Given the description of an element on the screen output the (x, y) to click on. 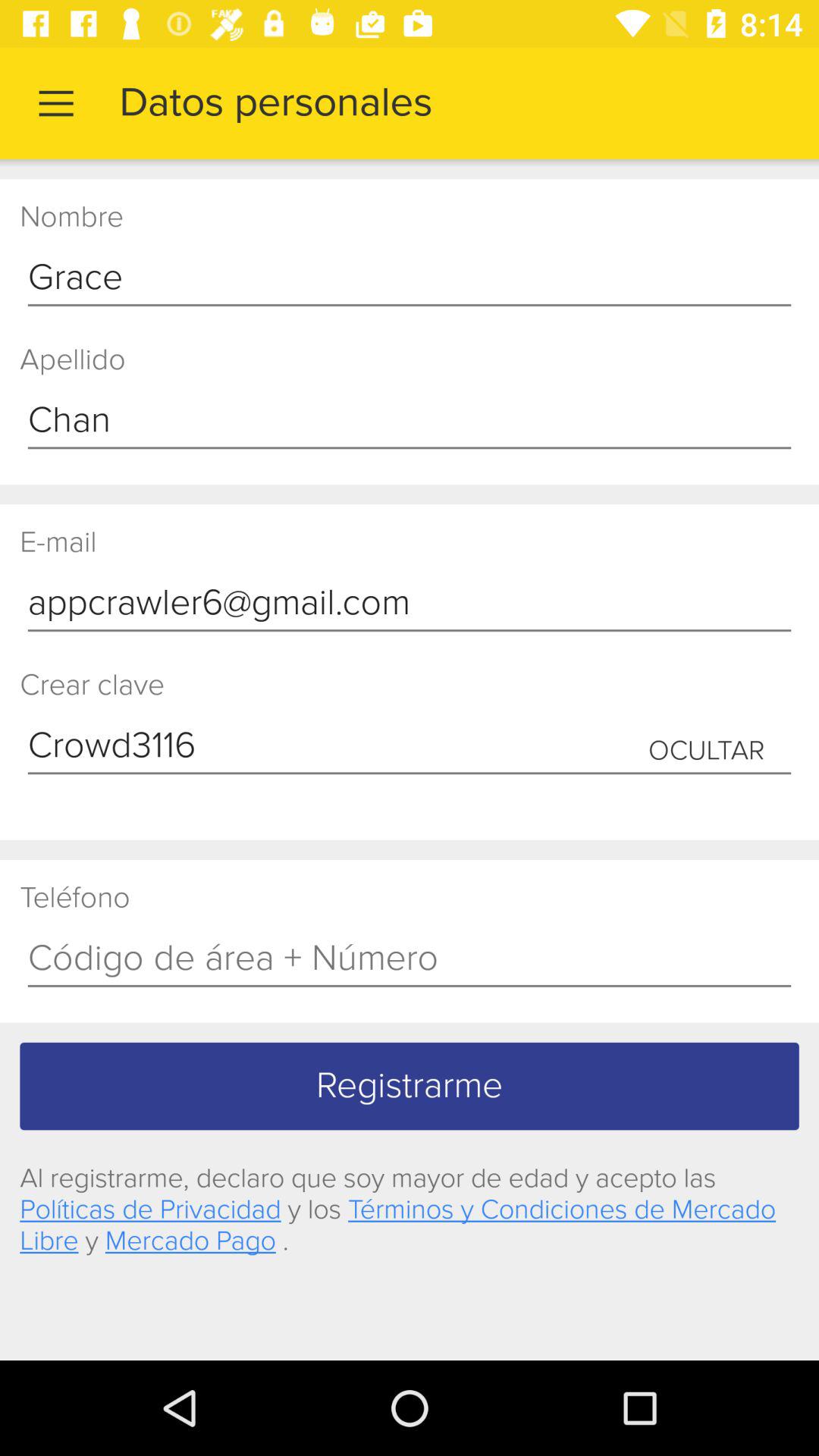
click icon above the apellido (409, 278)
